Given the description of an element on the screen output the (x, y) to click on. 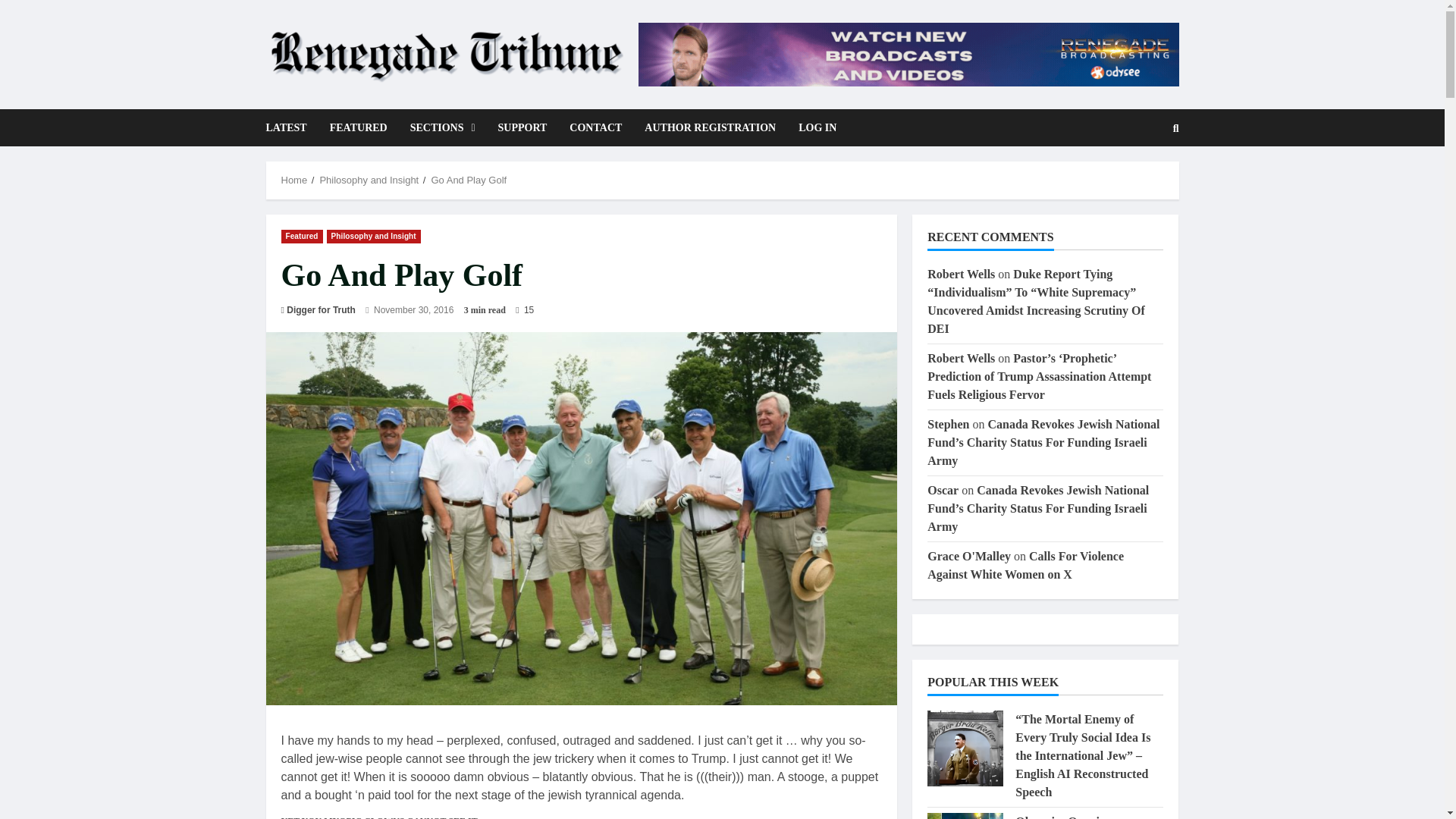
SUPPORT (522, 127)
LATEST (290, 127)
CONTACT (595, 127)
LOG IN (811, 127)
AUTHOR REGISTRATION (710, 127)
Search (1139, 179)
Featured (301, 236)
SECTIONS (442, 127)
Go And Play Golf (468, 179)
Philosophy and Insight (368, 179)
15 (524, 309)
FEATURED (358, 127)
Home (294, 179)
Digger for Truth (320, 309)
Philosophy and Insight (373, 236)
